Given the description of an element on the screen output the (x, y) to click on. 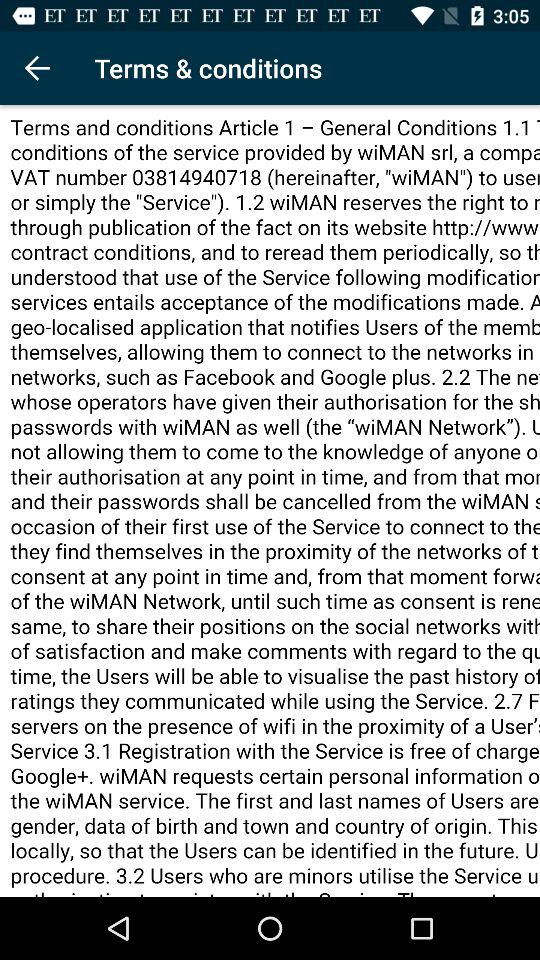
go back (36, 68)
